Given the description of an element on the screen output the (x, y) to click on. 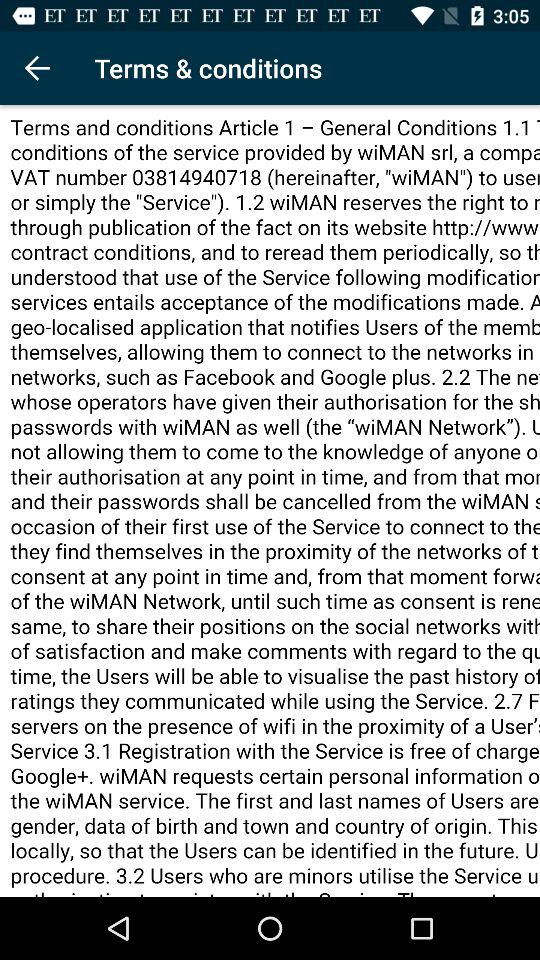
go back (36, 68)
